Given the description of an element on the screen output the (x, y) to click on. 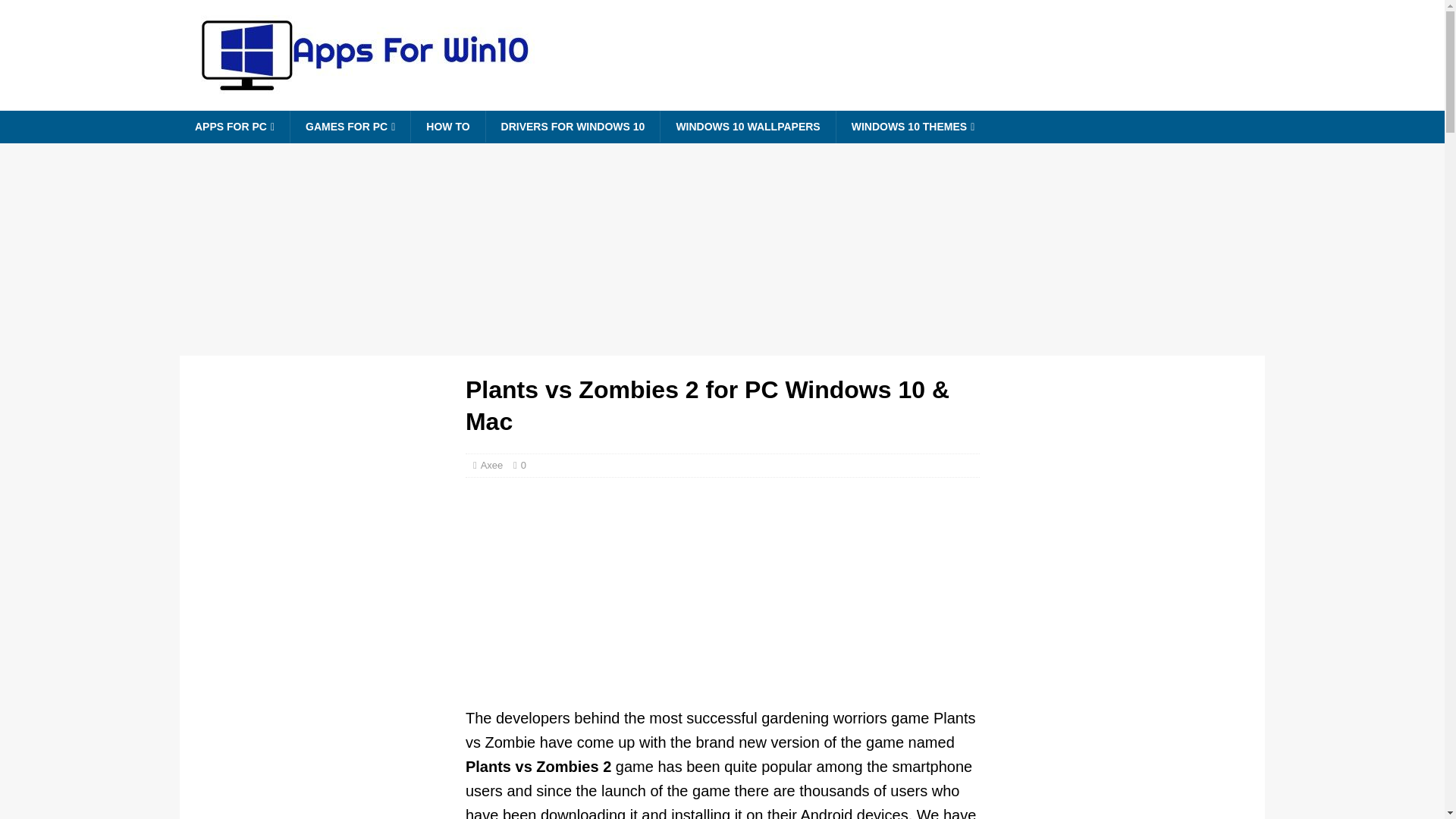
Axee (491, 464)
DRIVERS FOR WINDOWS 10 (572, 126)
Advertisement (722, 599)
HOW TO (447, 126)
WINDOWS 10 WALLPAPERS (746, 126)
Advertisement (1122, 707)
GAMES FOR PC (349, 126)
APPS FOR PC (234, 126)
Advertisement (321, 707)
